Given the description of an element on the screen output the (x, y) to click on. 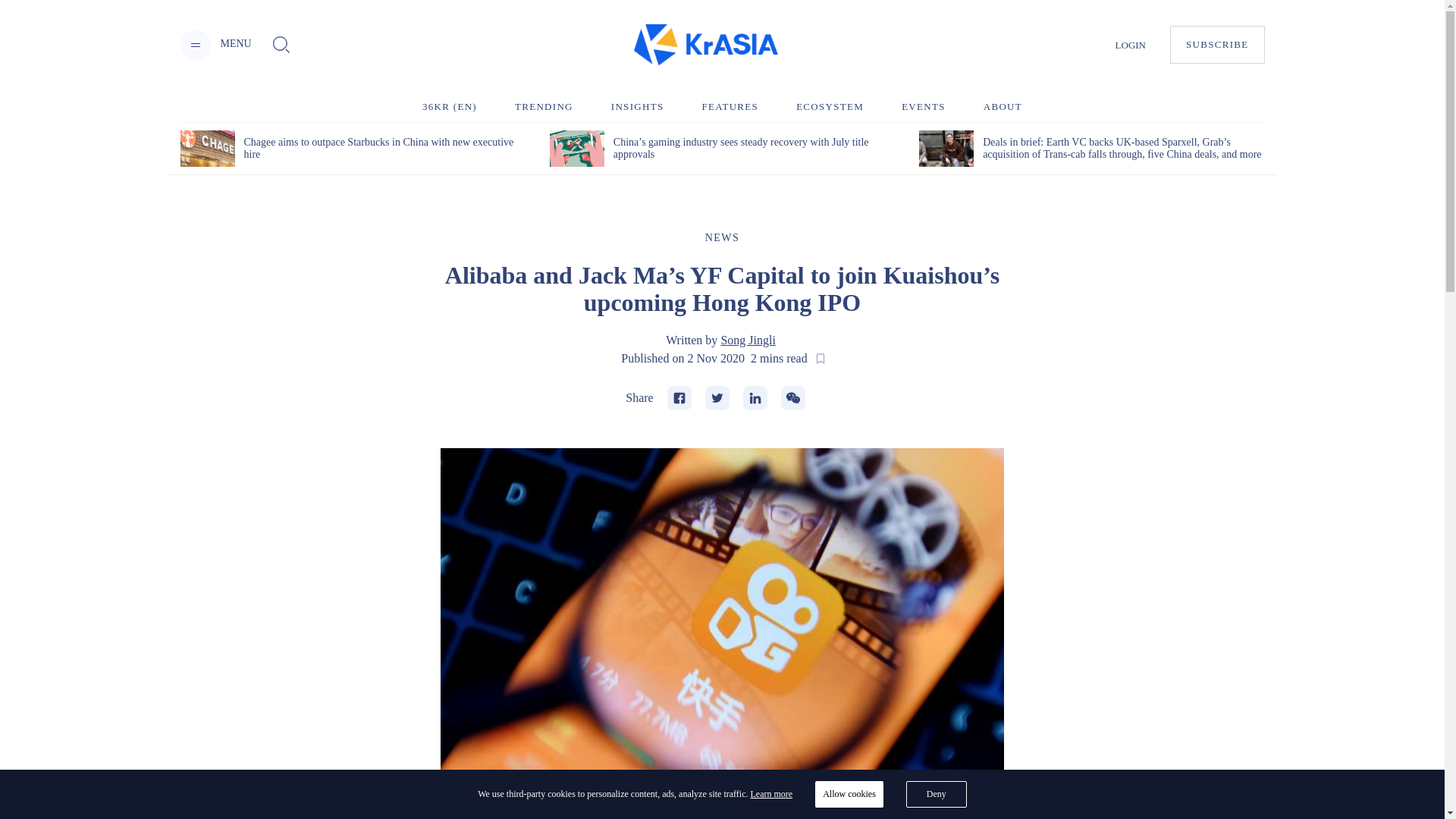
INSIGHTS (637, 106)
Song Jingli (747, 339)
NEWS (721, 237)
KrASIA Homepage (705, 45)
ABOUT (1003, 106)
EVENTS (922, 106)
SUBSCRIBE (1217, 44)
LOGIN (1130, 44)
FEATURES (729, 106)
TRENDING (544, 106)
ECOSYSTEM (829, 106)
